Given the description of an element on the screen output the (x, y) to click on. 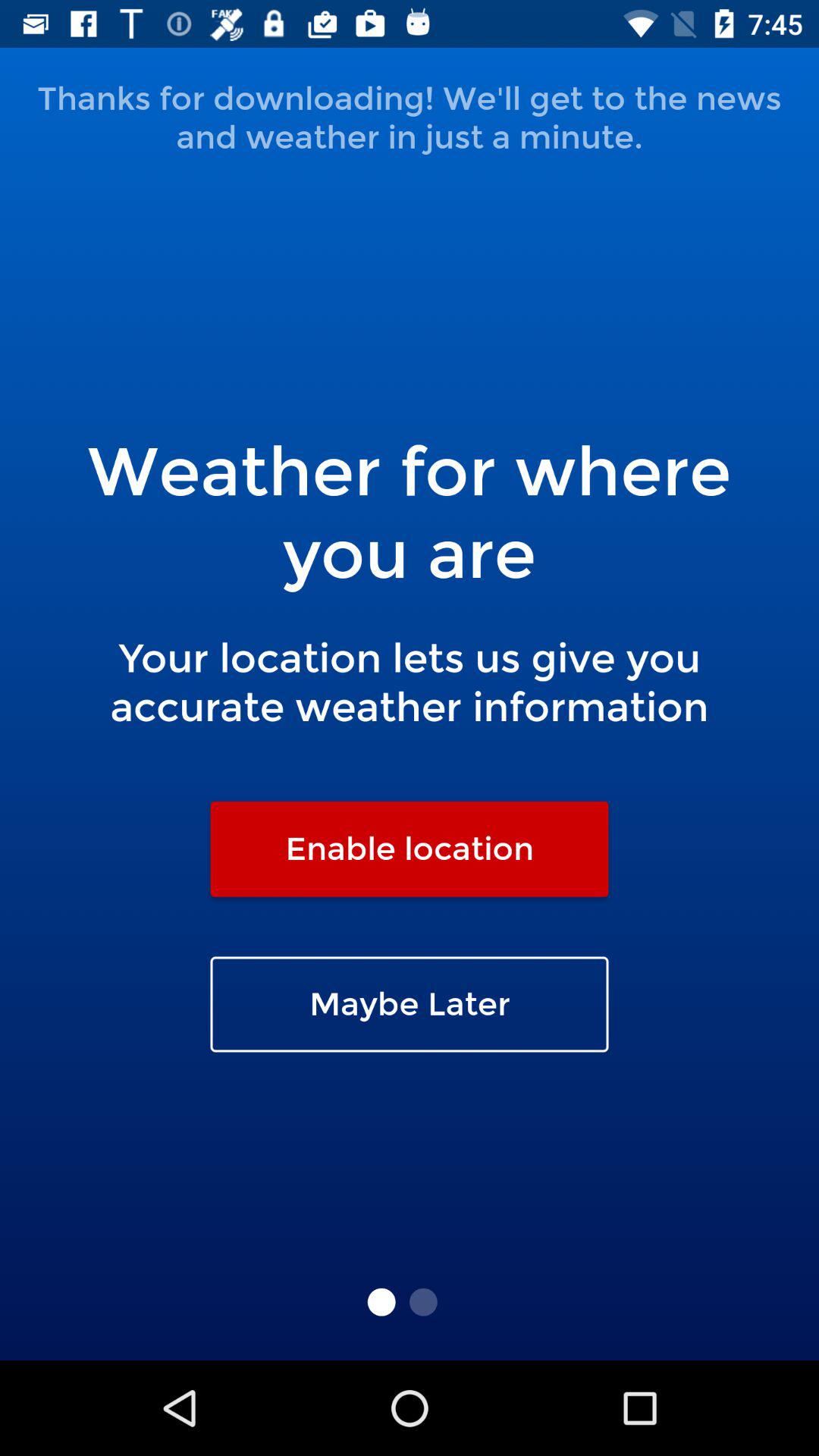
scroll to enable location icon (409, 848)
